Given the description of an element on the screen output the (x, y) to click on. 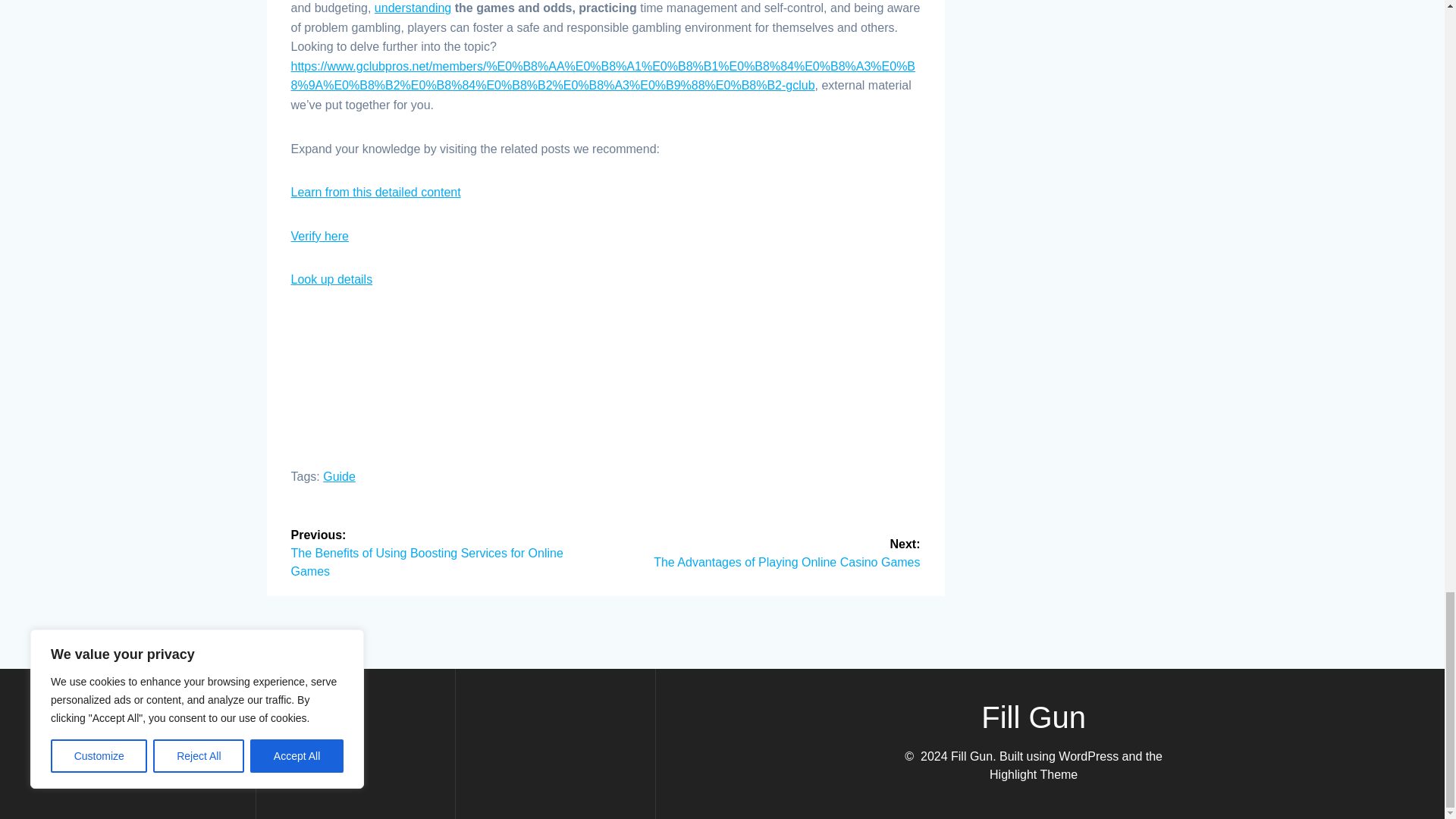
understanding (412, 7)
Learn from this detailed content (376, 192)
Look up details (331, 278)
Verify here (320, 236)
Guide (339, 476)
